Given the description of an element on the screen output the (x, y) to click on. 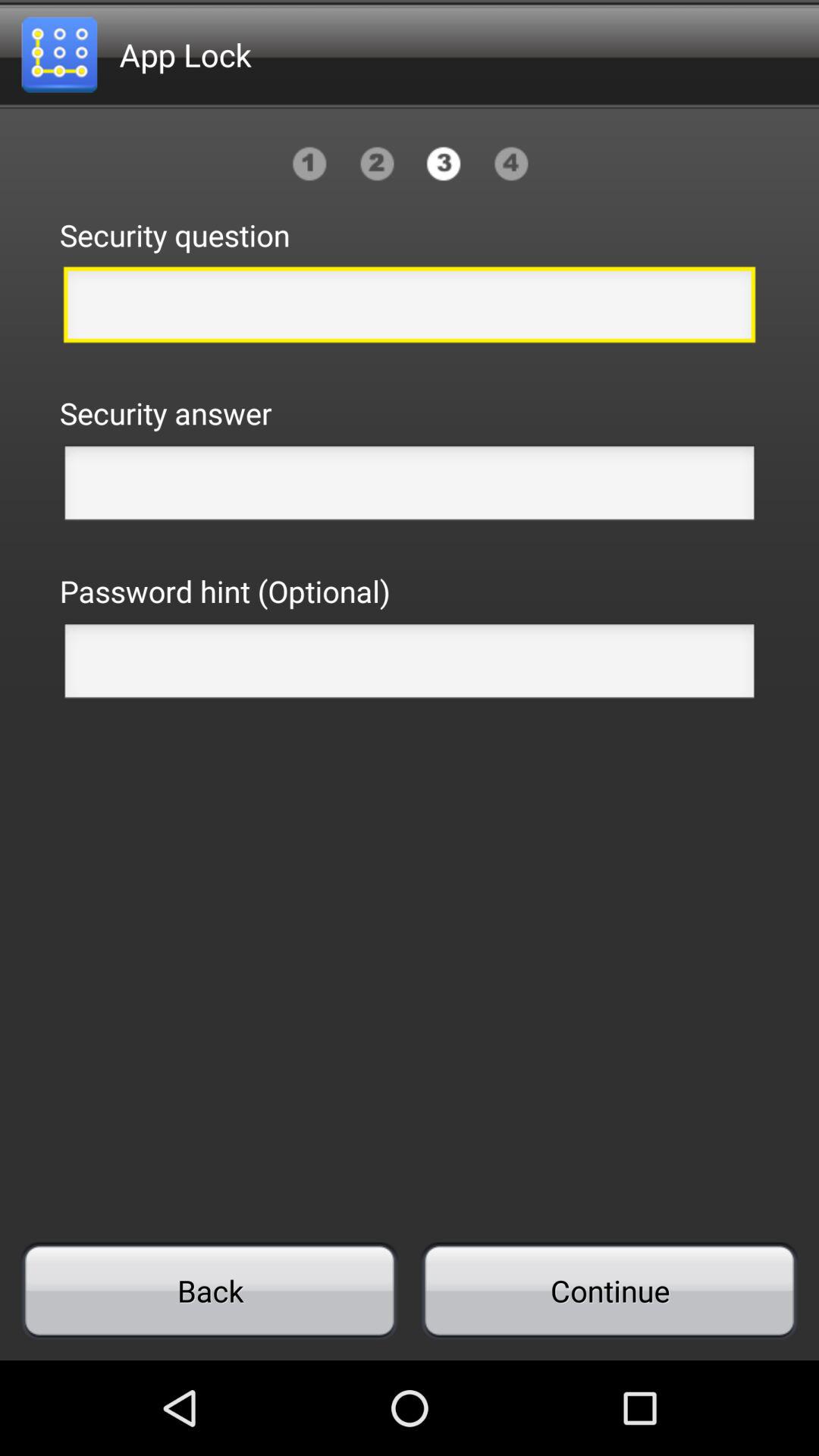
launch item at the bottom left corner (209, 1290)
